Given the description of an element on the screen output the (x, y) to click on. 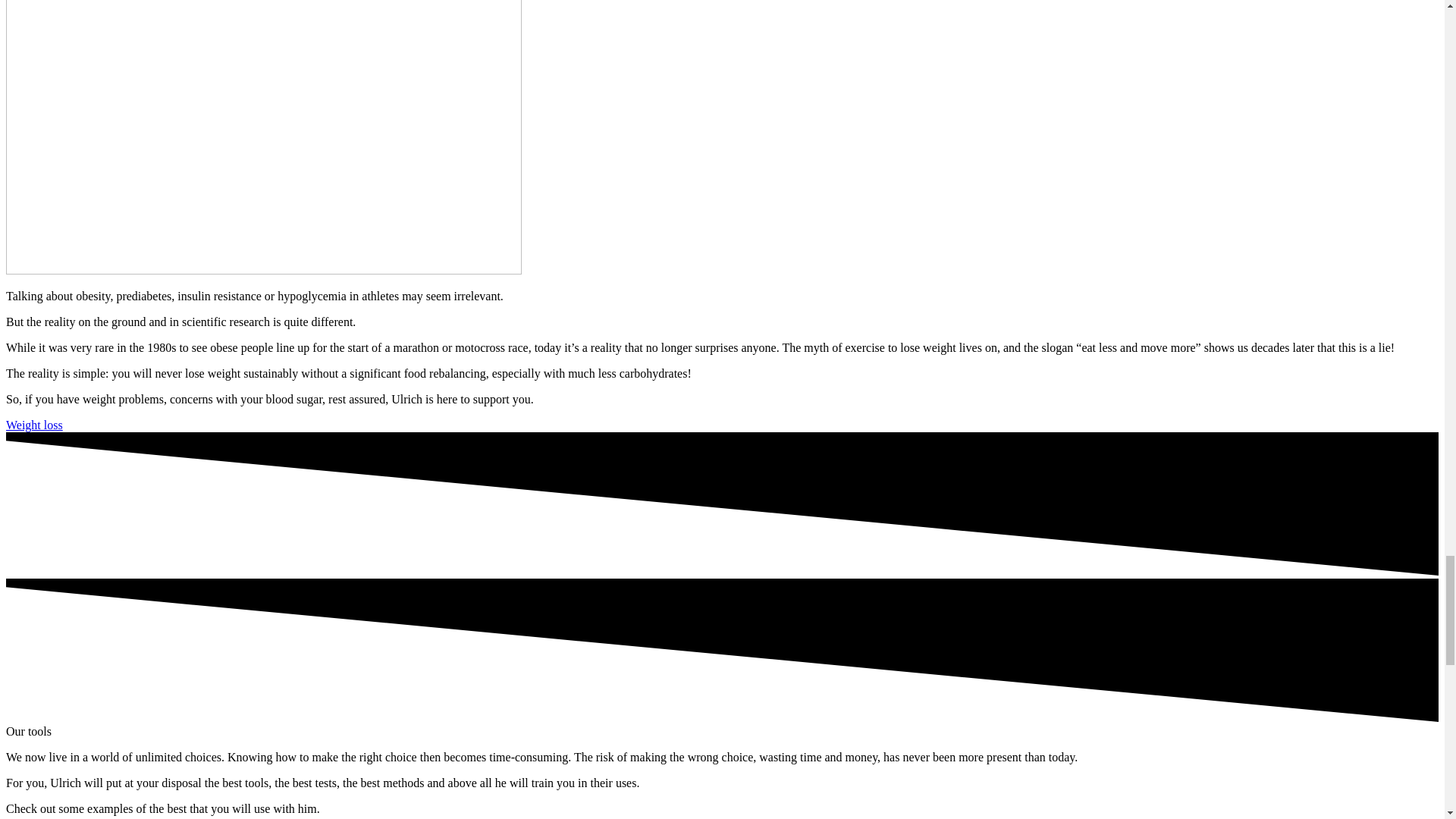
Weight loss (33, 424)
